Given the description of an element on the screen output the (x, y) to click on. 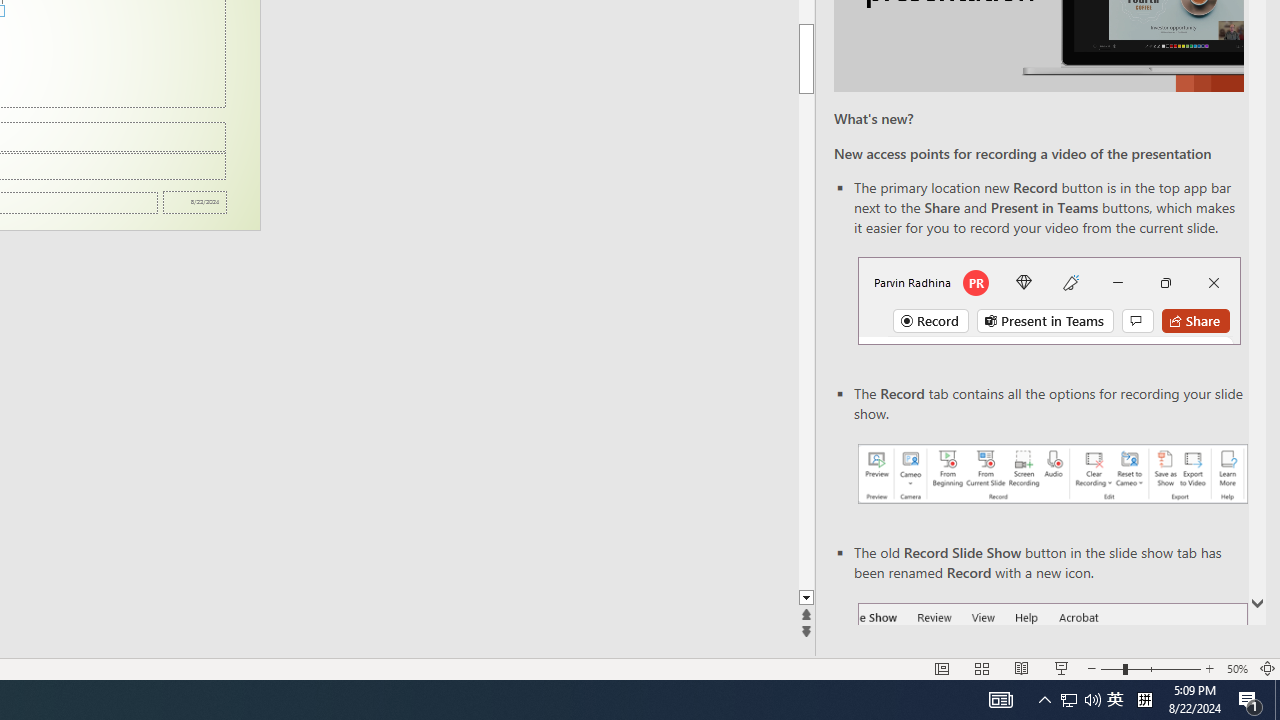
Date (194, 201)
Record button in top bar (1049, 300)
Zoom 50% (1236, 668)
Record your presentations screenshot one (1052, 473)
